Given the description of an element on the screen output the (x, y) to click on. 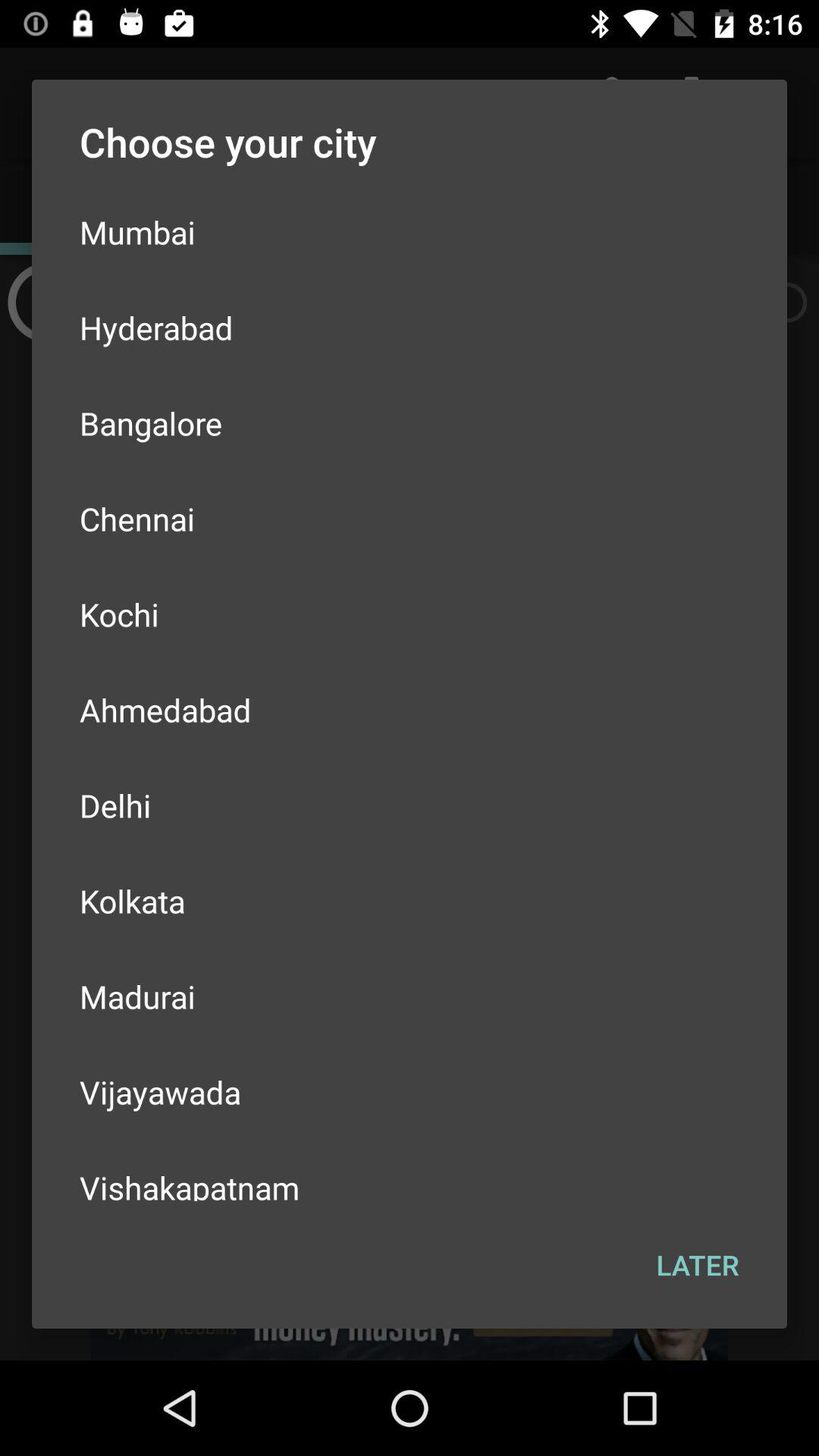
tap vijayawada (409, 1091)
